Given the description of an element on the screen output the (x, y) to click on. 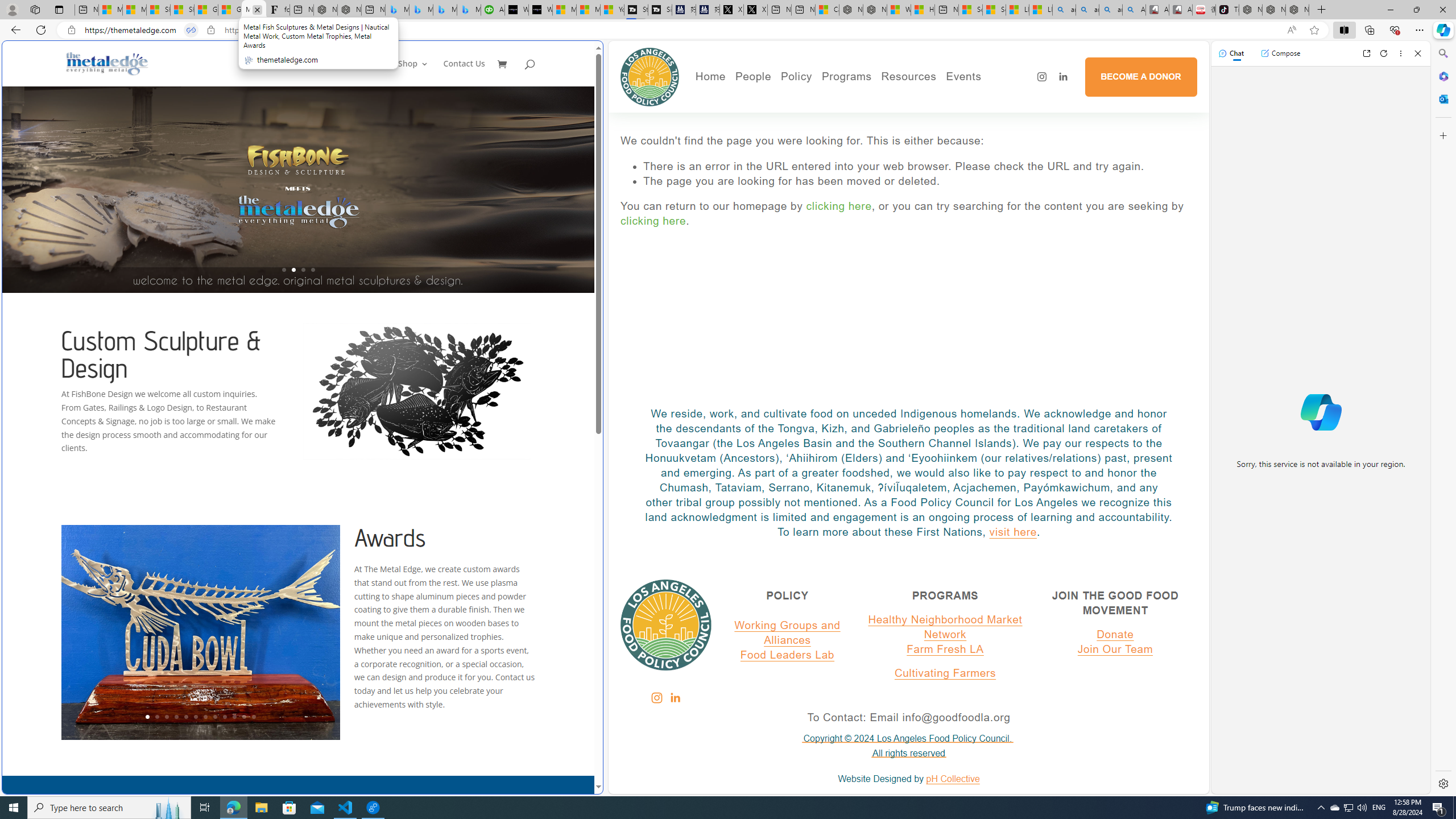
Open link in new tab (1366, 53)
Metal Fish Sculptures & Metal Designs (106, 63)
Shop 3 (413, 72)
SoCal Impact Food Fund (951, 113)
Back (13, 29)
Blog (791, 145)
Microsoft Bing Travel - Stays in Bangkok, Bangkok, Thailand (421, 9)
People (791, 113)
Gilma and Hector both pose tropical trouble for Hawaii (229, 9)
Streaming Coverage | T3 (635, 9)
8 (214, 716)
Minimize (1390, 9)
